Given the description of an element on the screen output the (x, y) to click on. 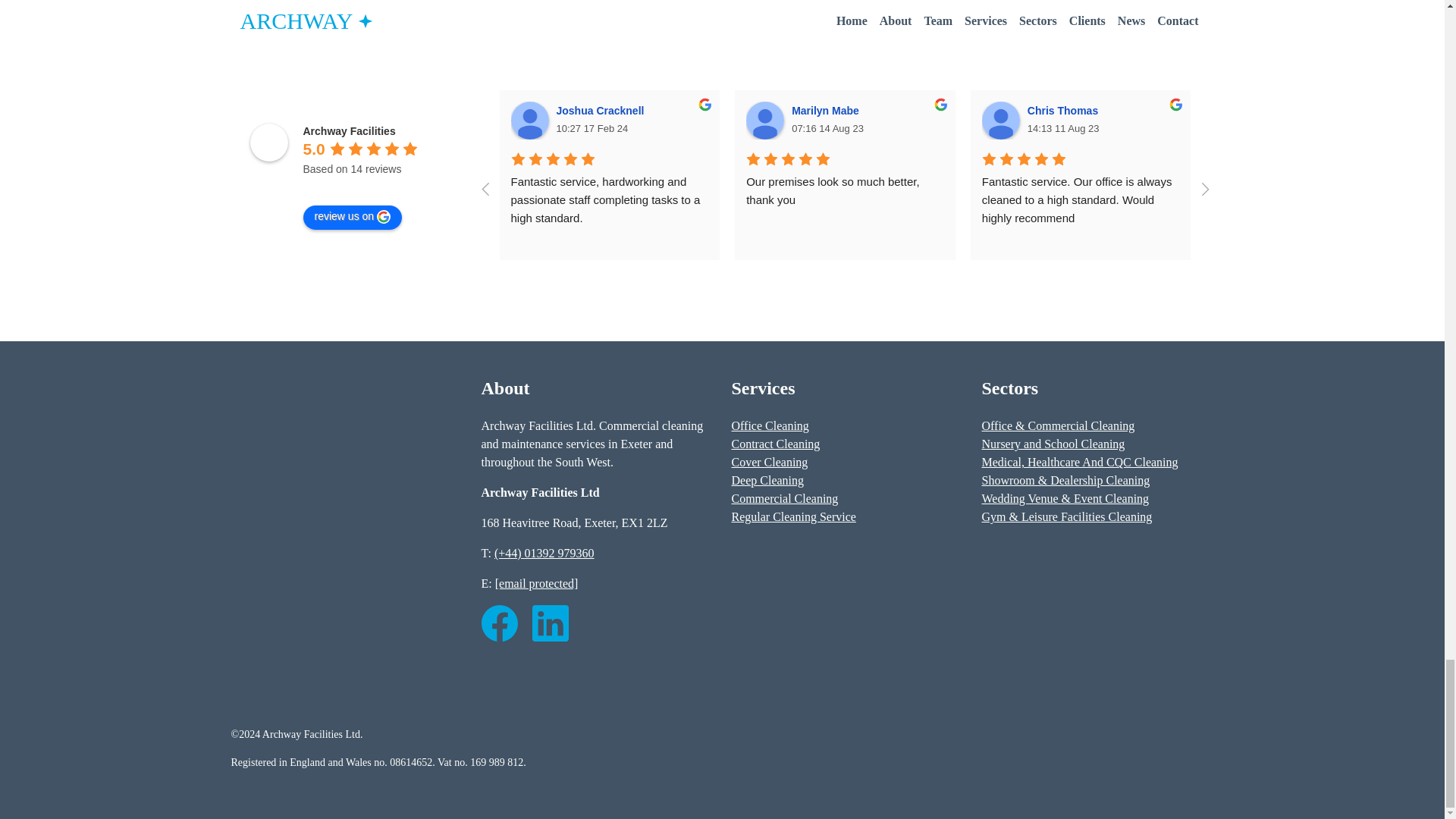
Chris Thomas (1064, 110)
Marilyn Mabe (827, 110)
Medical, Healthcare And CQC Cleaning (1079, 461)
Archway Facilities (349, 131)
Cover Cleaning (769, 461)
Chris Thomas (1000, 120)
Deep Cleaning (766, 480)
Contract Cleaning (774, 443)
review us on (352, 217)
Nursery and School Cleaning (1052, 443)
Marilyn Mabe (764, 120)
Commercial Cleaning (784, 498)
Claire Williams (1236, 120)
Office Cleaning (769, 425)
